Given the description of an element on the screen output the (x, y) to click on. 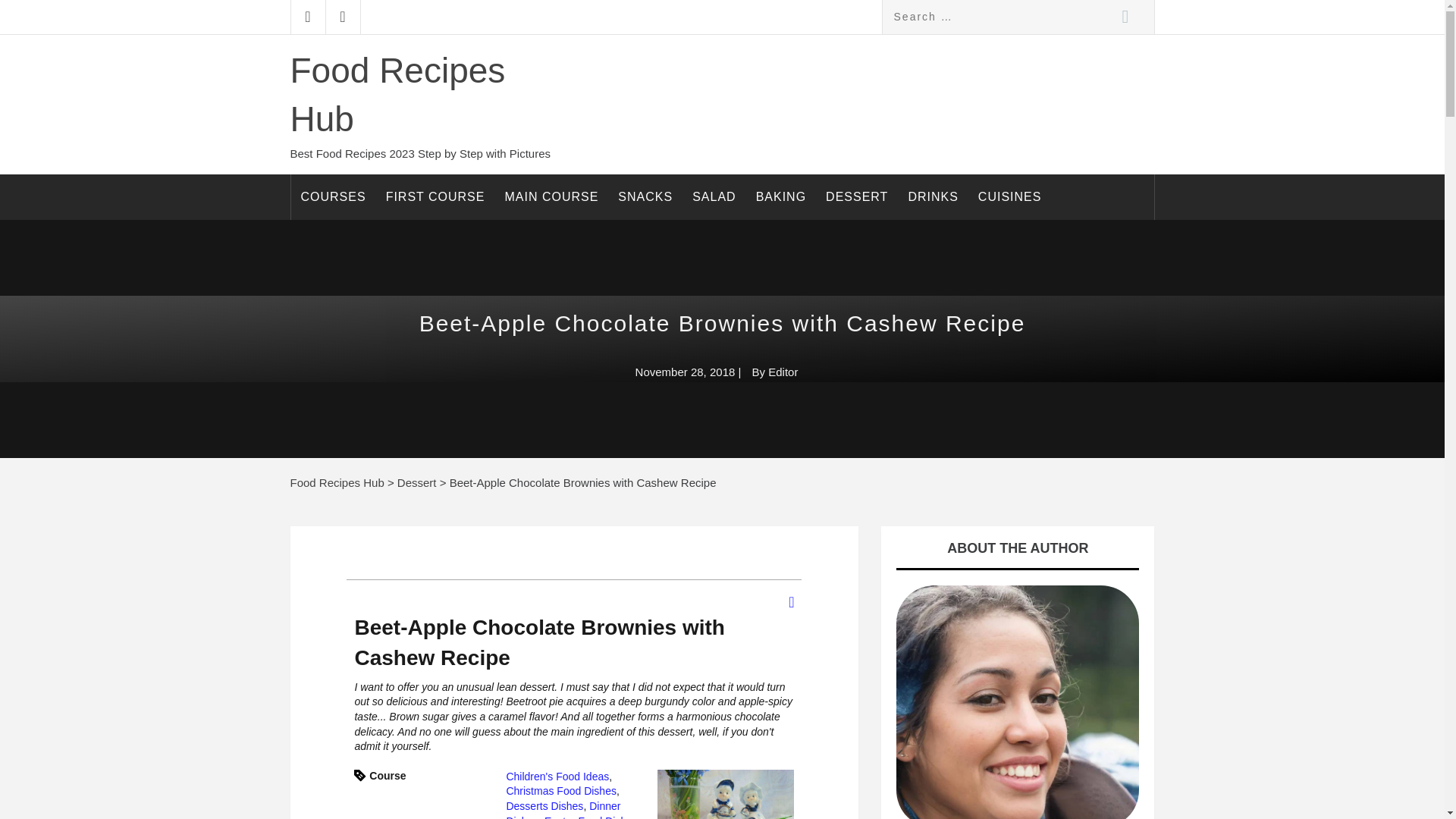
Go to the Dessert category archives. (416, 481)
Search (1124, 17)
FIRST COURSE (435, 197)
Search (1124, 17)
Beet-Apple Chocolate Brownies with Cashew Recipe (725, 794)
Food Recipes Hub (397, 94)
Go to Food Recipes Hub. (336, 481)
MAIN COURSE (551, 197)
Search (1124, 17)
COURSES (333, 197)
